Given the description of an element on the screen output the (x, y) to click on. 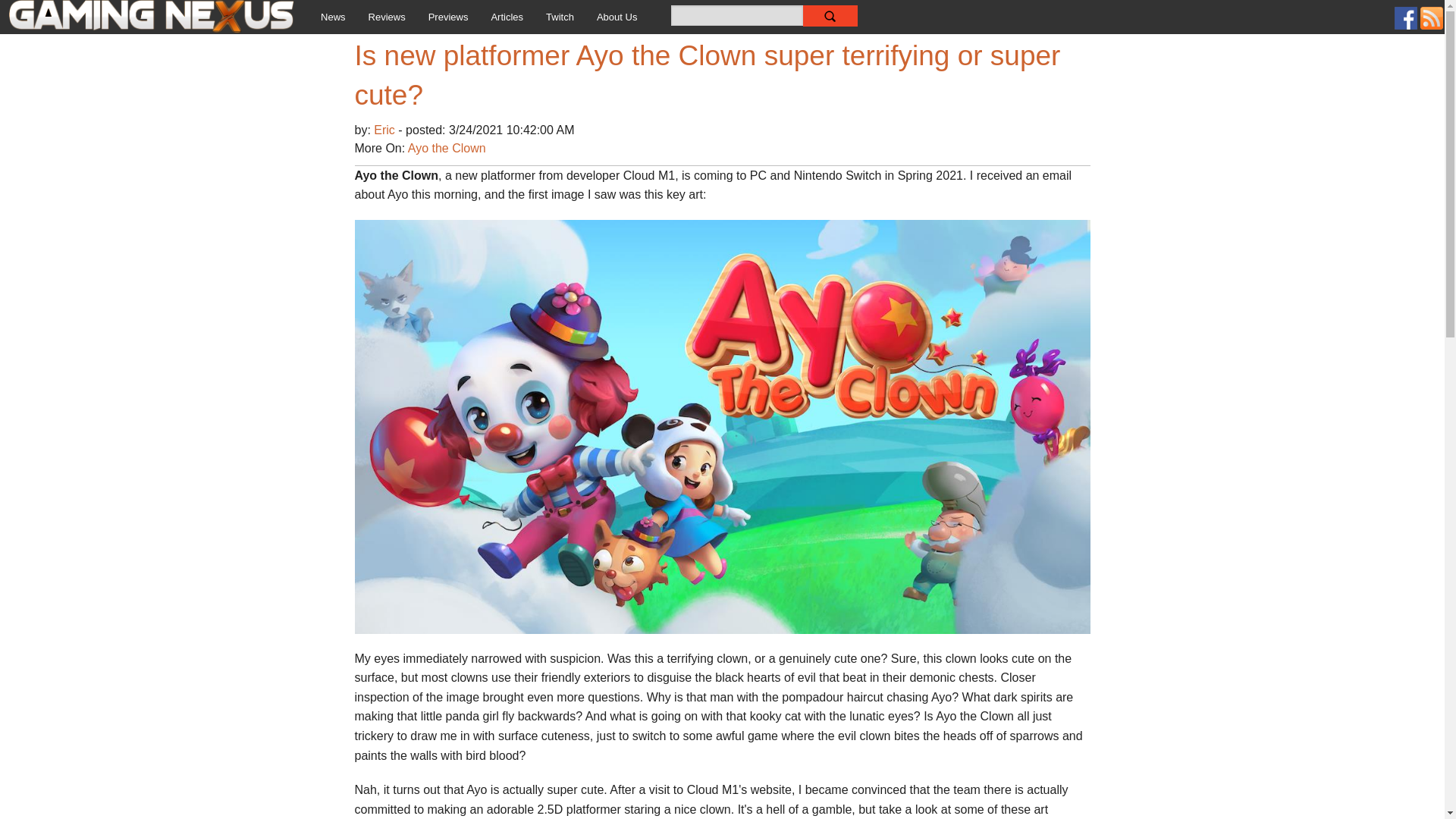
Twitch (559, 17)
About Us (616, 17)
Articles (506, 17)
Eric (385, 129)
News (332, 17)
Ayo the Clown (446, 147)
Previews (448, 17)
Reviews (386, 17)
